Given the description of an element on the screen output the (x, y) to click on. 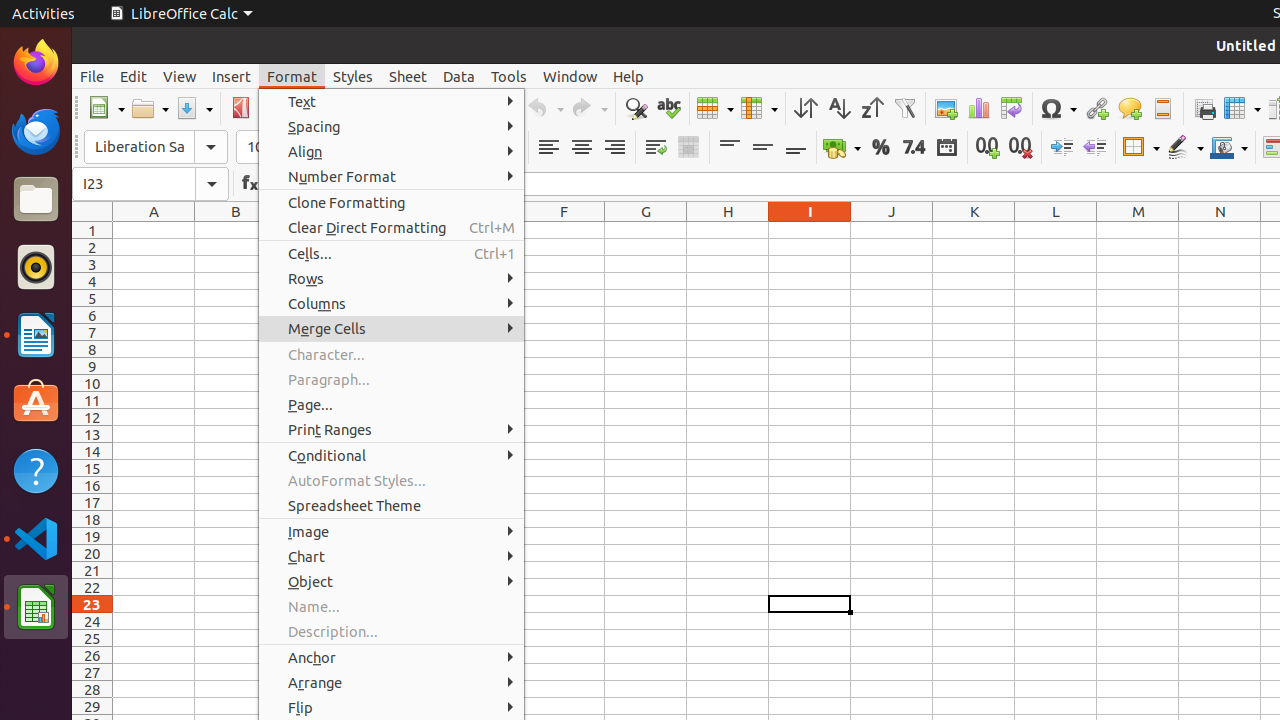
Align Top Element type: push-button (729, 147)
Activities Element type: label (43, 13)
Anchor Element type: menu (391, 657)
Merge and Center Cells Element type: push-button (688, 147)
Paragraph... Element type: menu-item (391, 379)
